Given the description of an element on the screen output the (x, y) to click on. 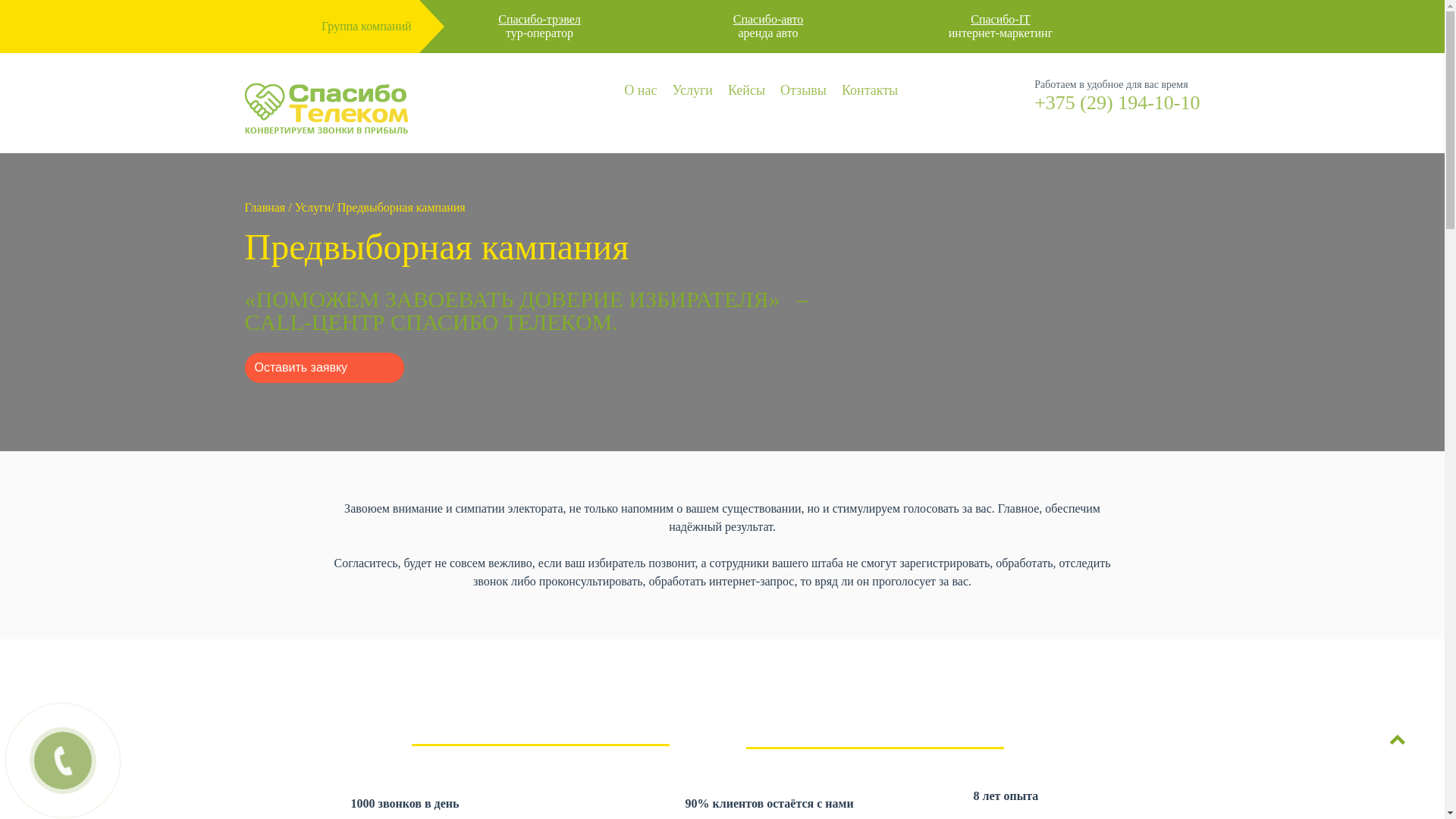
Jump to navigation Element type: text (722, 55)
